Given the description of an element on the screen output the (x, y) to click on. 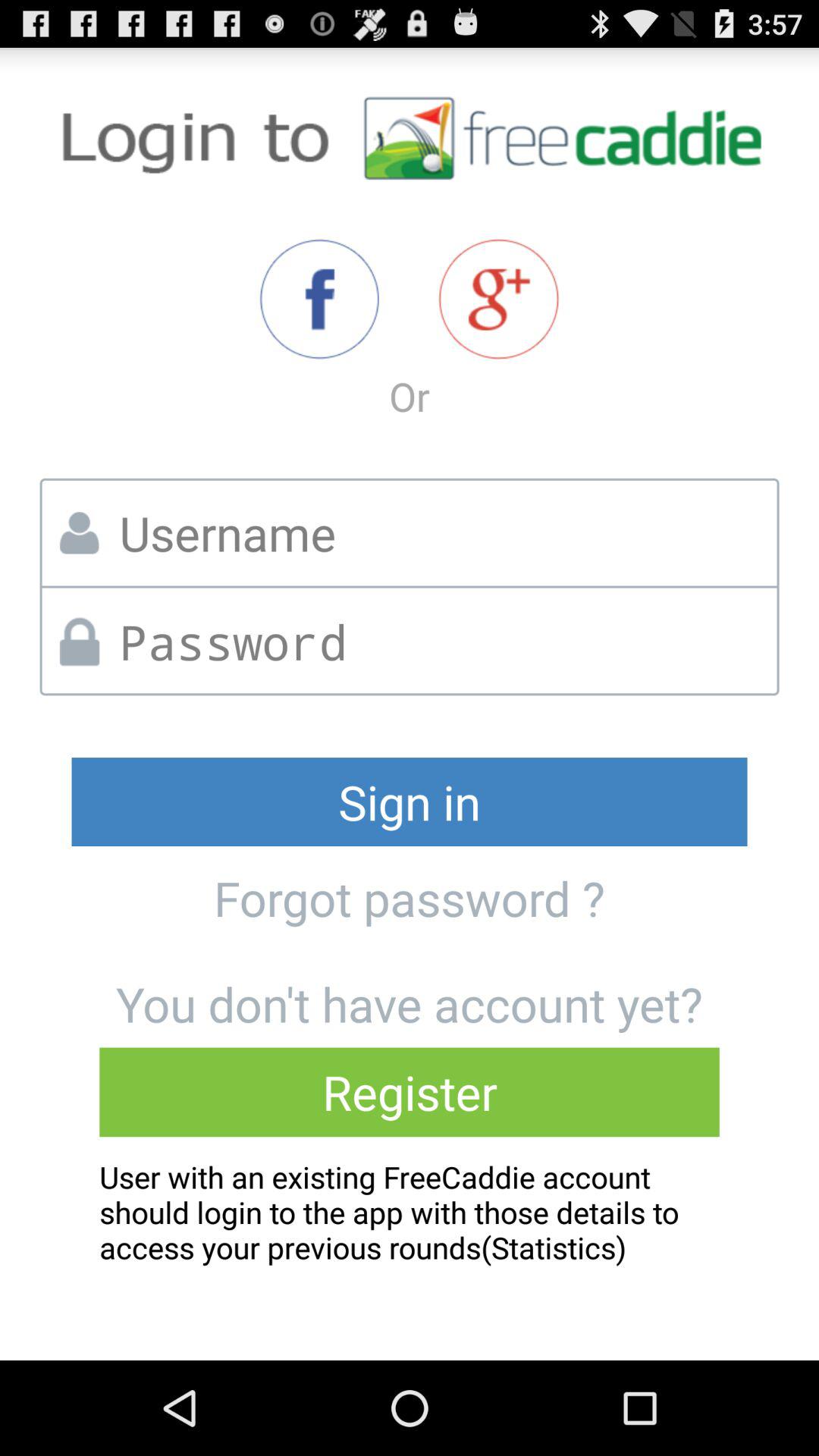
open forgot password ? icon (409, 897)
